Given the description of an element on the screen output the (x, y) to click on. 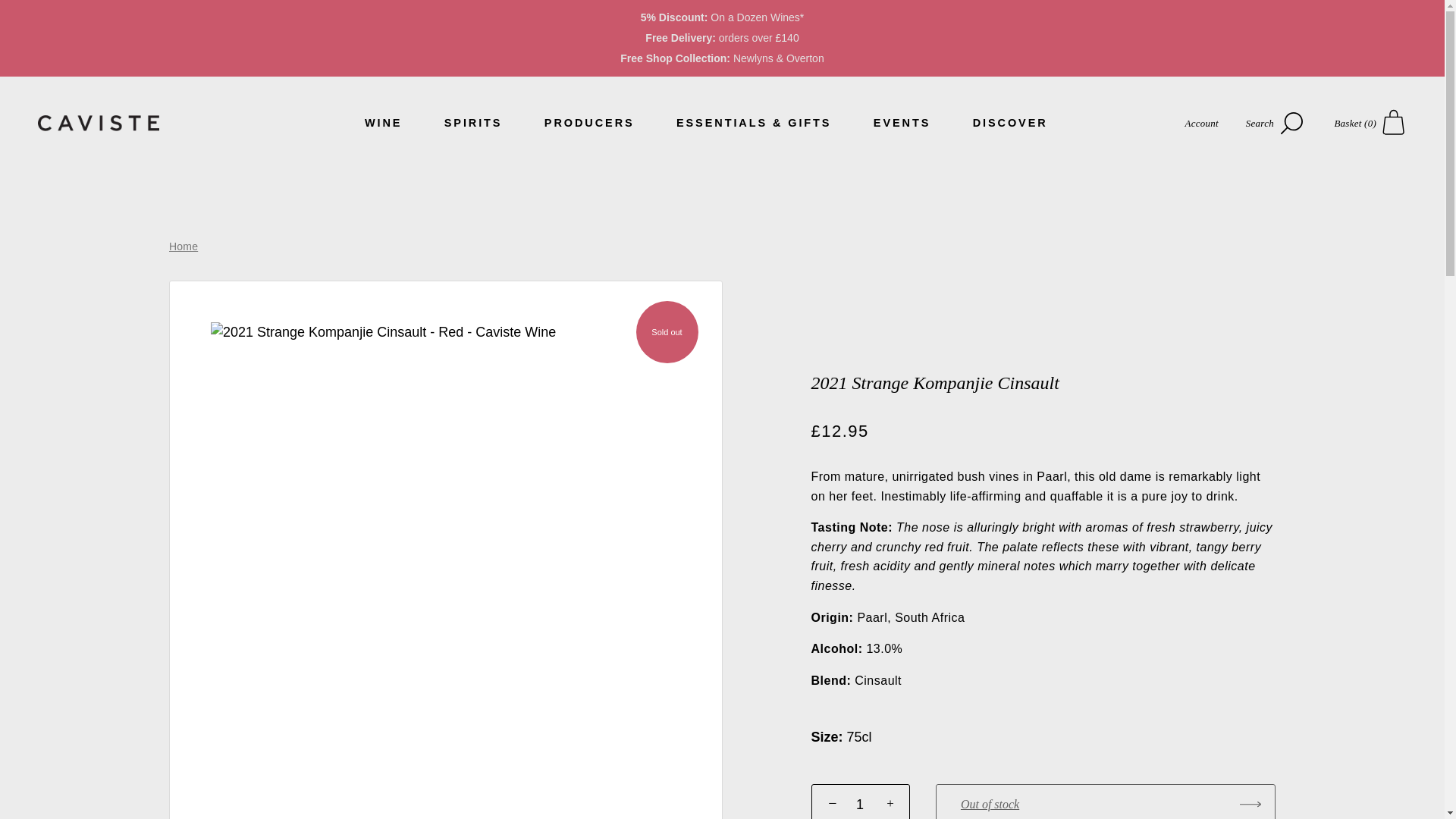
WINE (384, 123)
1 (859, 800)
